Given the description of an element on the screen output the (x, y) to click on. 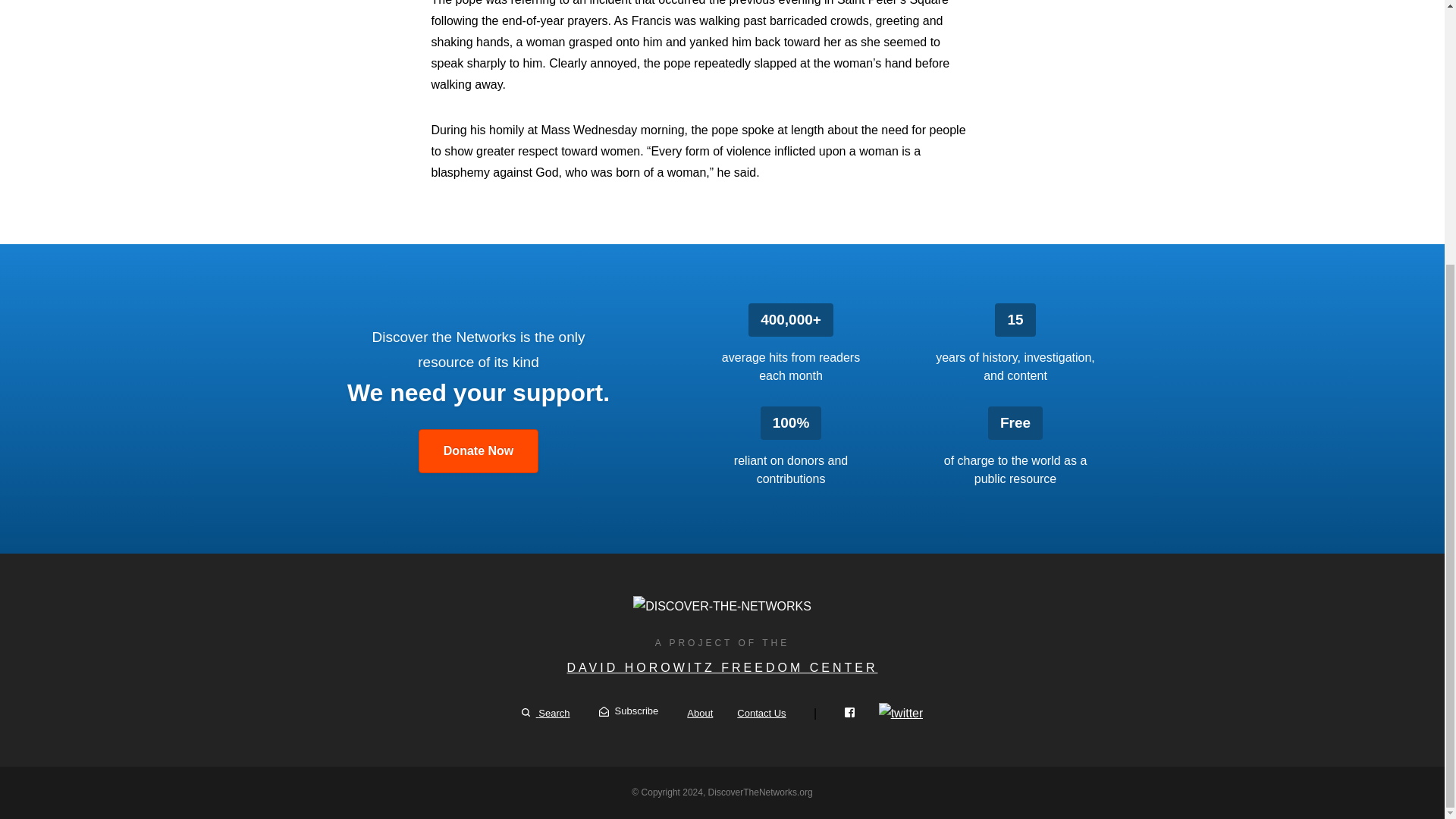
About (700, 713)
Search (545, 713)
Contact Us (761, 713)
Subscribe (628, 711)
DAVID HOROWITZ FREEDOM CENTER (722, 667)
Donate Now (478, 451)
